Given the description of an element on the screen output the (x, y) to click on. 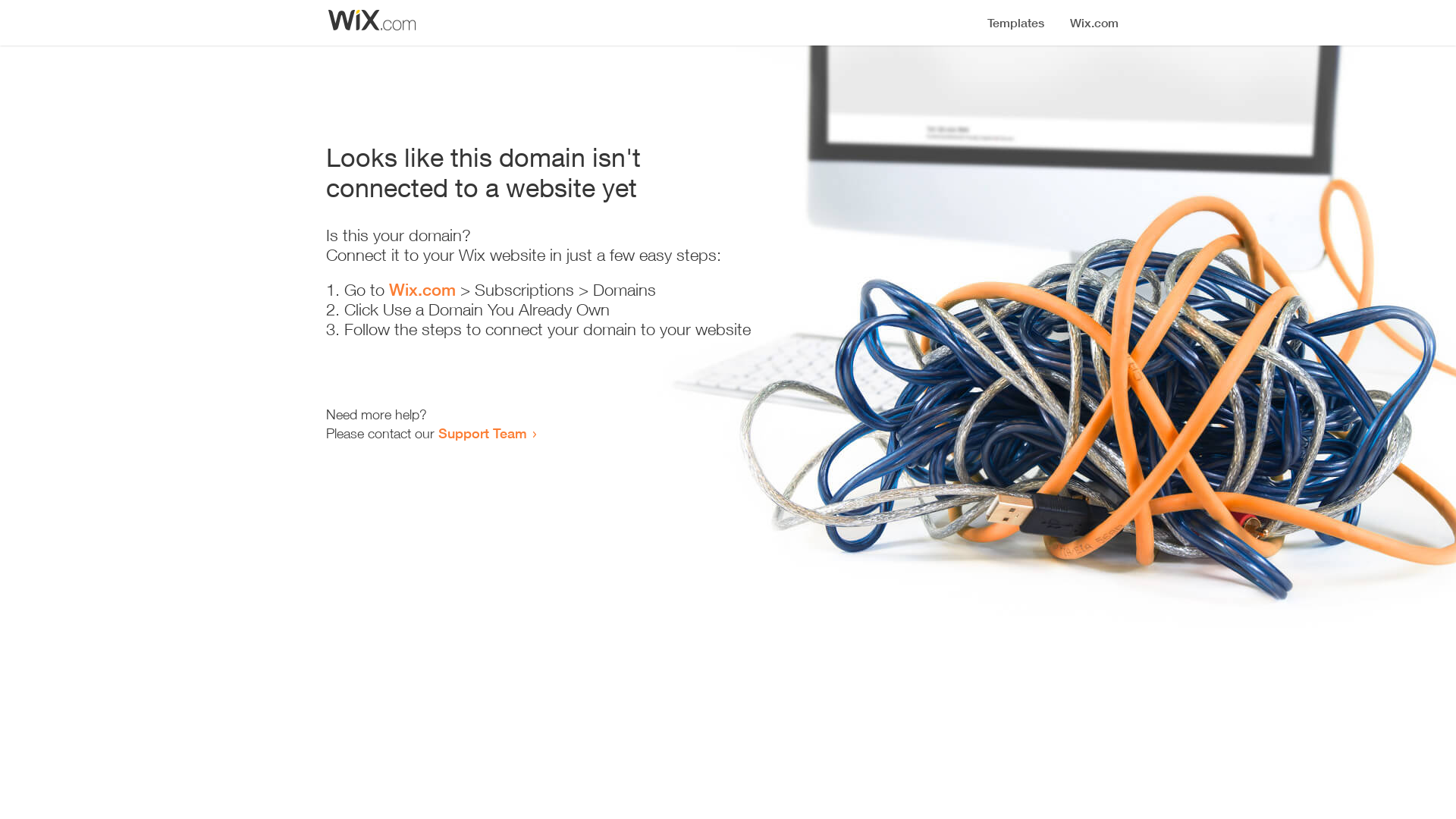
Support Team Element type: text (482, 432)
Wix.com Element type: text (422, 289)
